Given the description of an element on the screen output the (x, y) to click on. 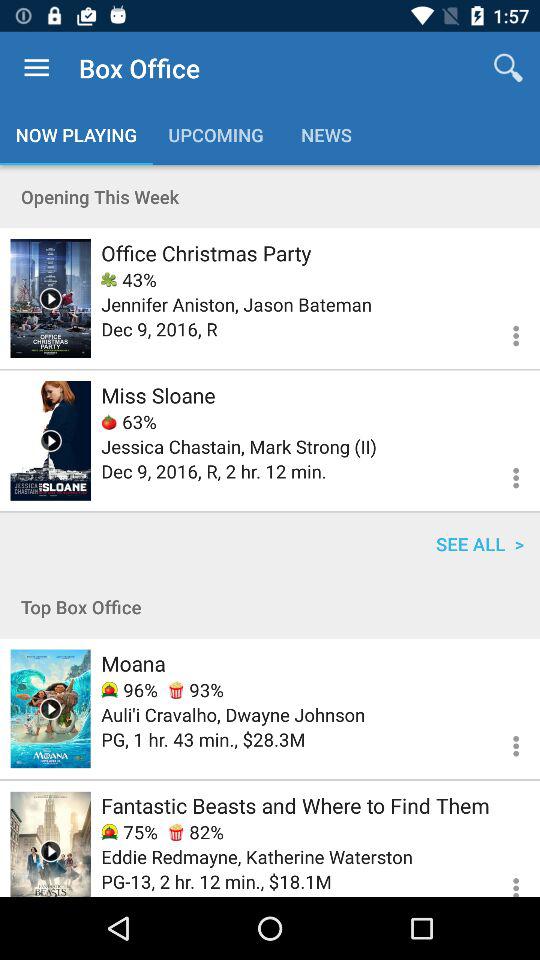
open office christmas party (206, 252)
